Given the description of an element on the screen output the (x, y) to click on. 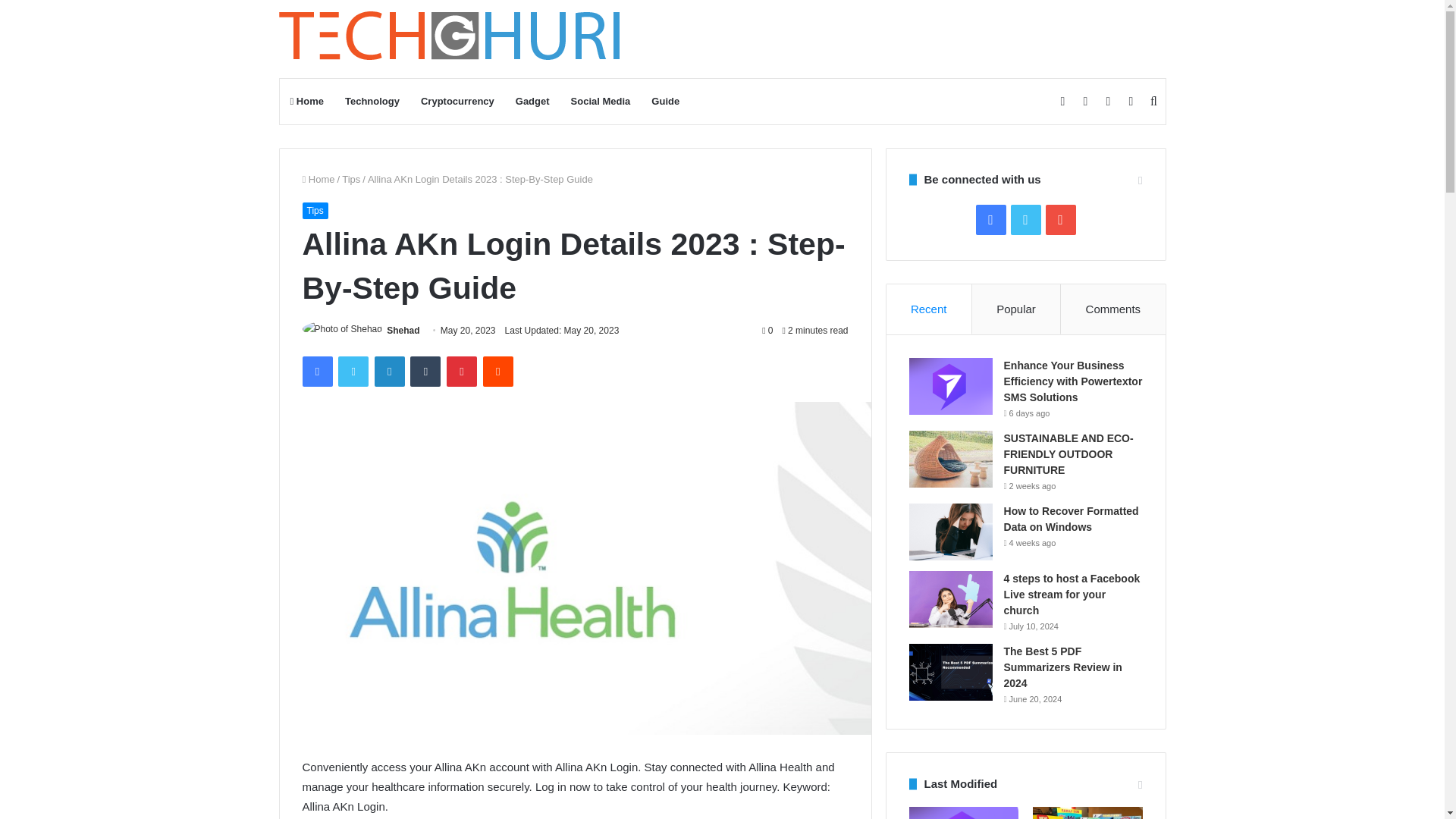
Gadget (532, 101)
Tumblr (425, 371)
Facebook (316, 371)
Tips (314, 210)
Twitter (352, 371)
Home (306, 101)
Pinterest (461, 371)
Tumblr (425, 371)
Cryptocurrency (457, 101)
Reddit (498, 371)
